Given the description of an element on the screen output the (x, y) to click on. 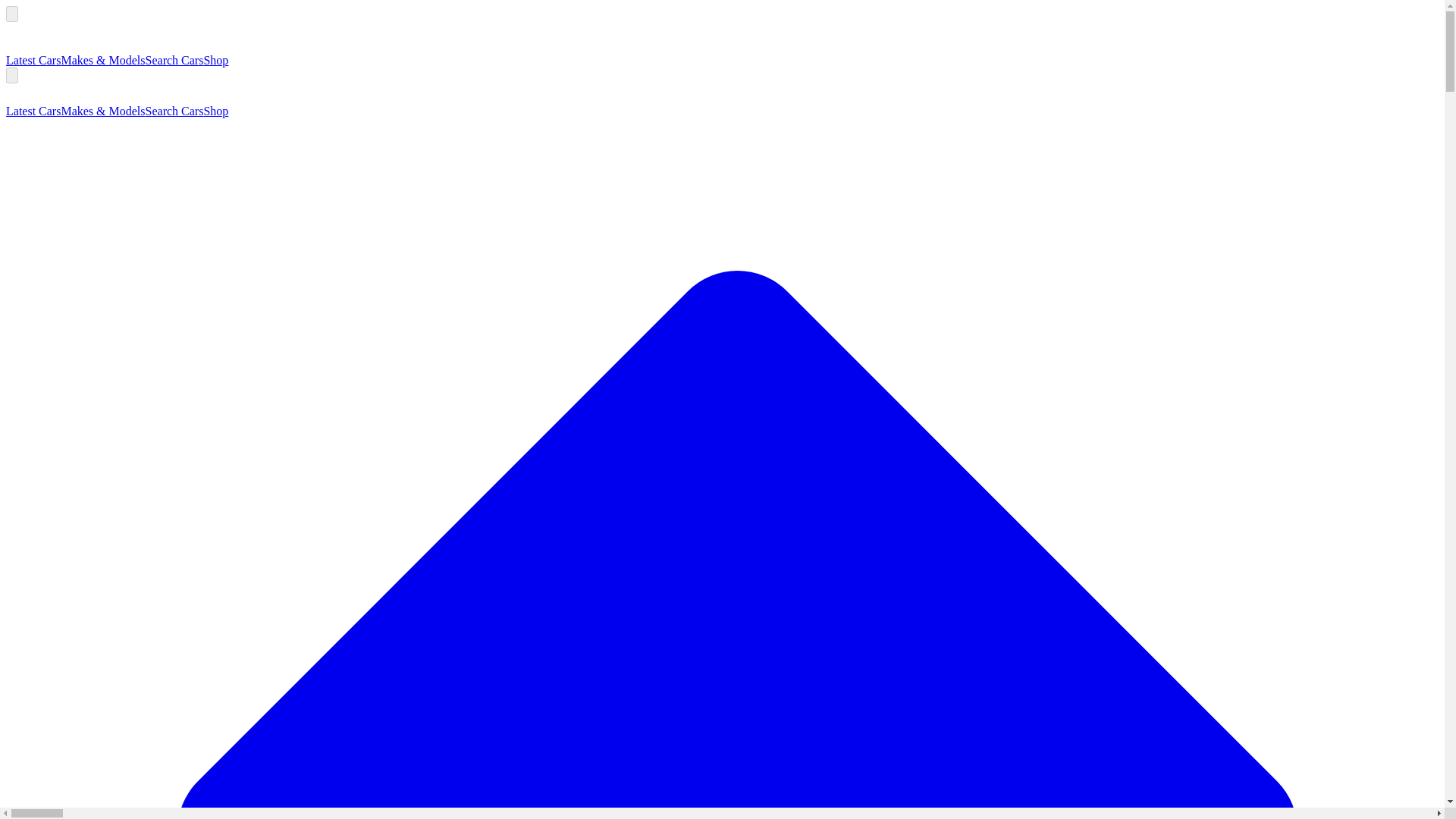
Shop (215, 60)
Latest Cars (33, 60)
Latest Cars (33, 110)
Search Cars (174, 60)
Search Cars (174, 110)
Shop (215, 110)
